Given the description of an element on the screen output the (x, y) to click on. 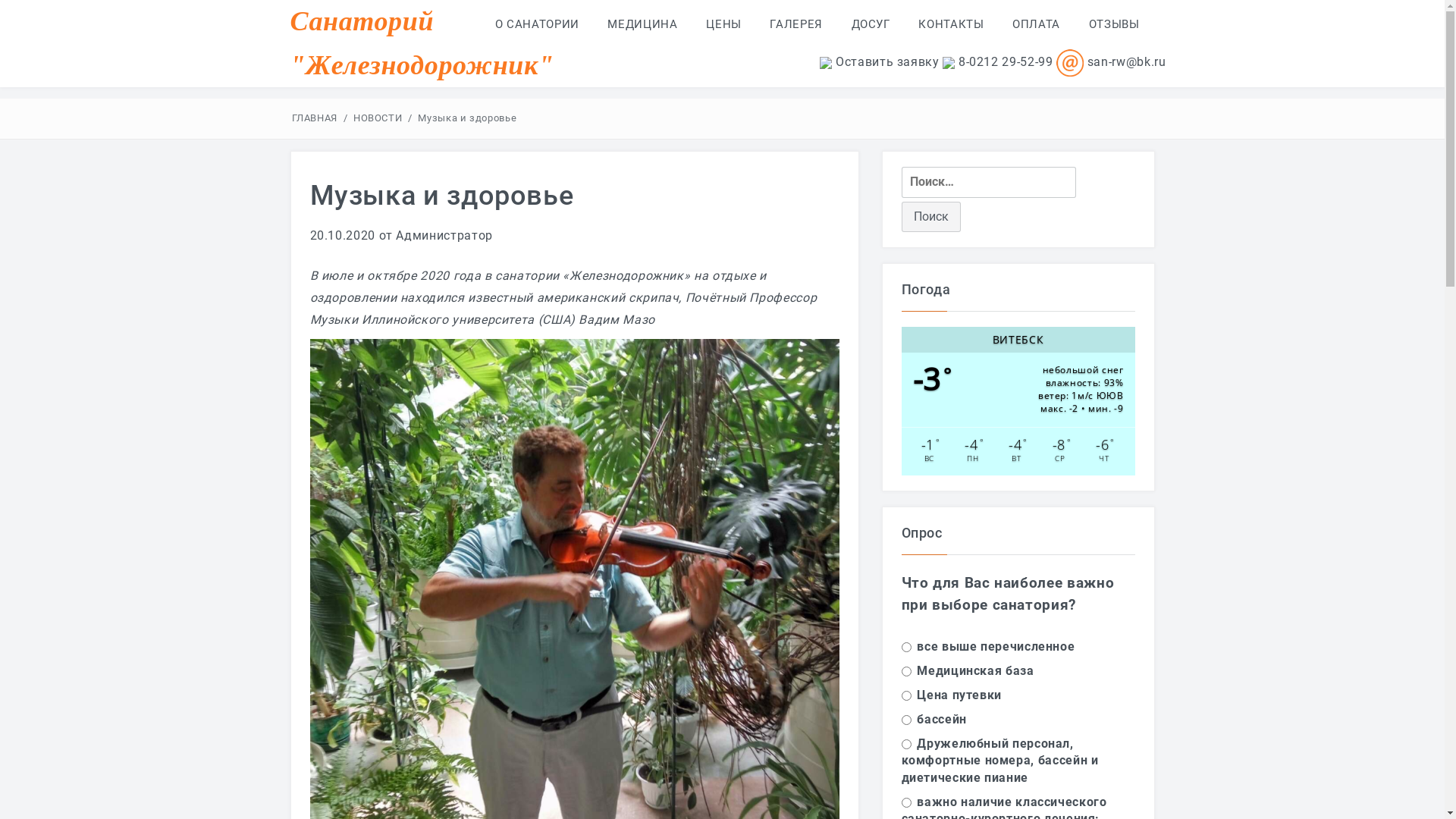
20.10.2020 Element type: text (341, 235)
san-rw@bk.ru Element type: text (1126, 61)
